Given the description of an element on the screen output the (x, y) to click on. 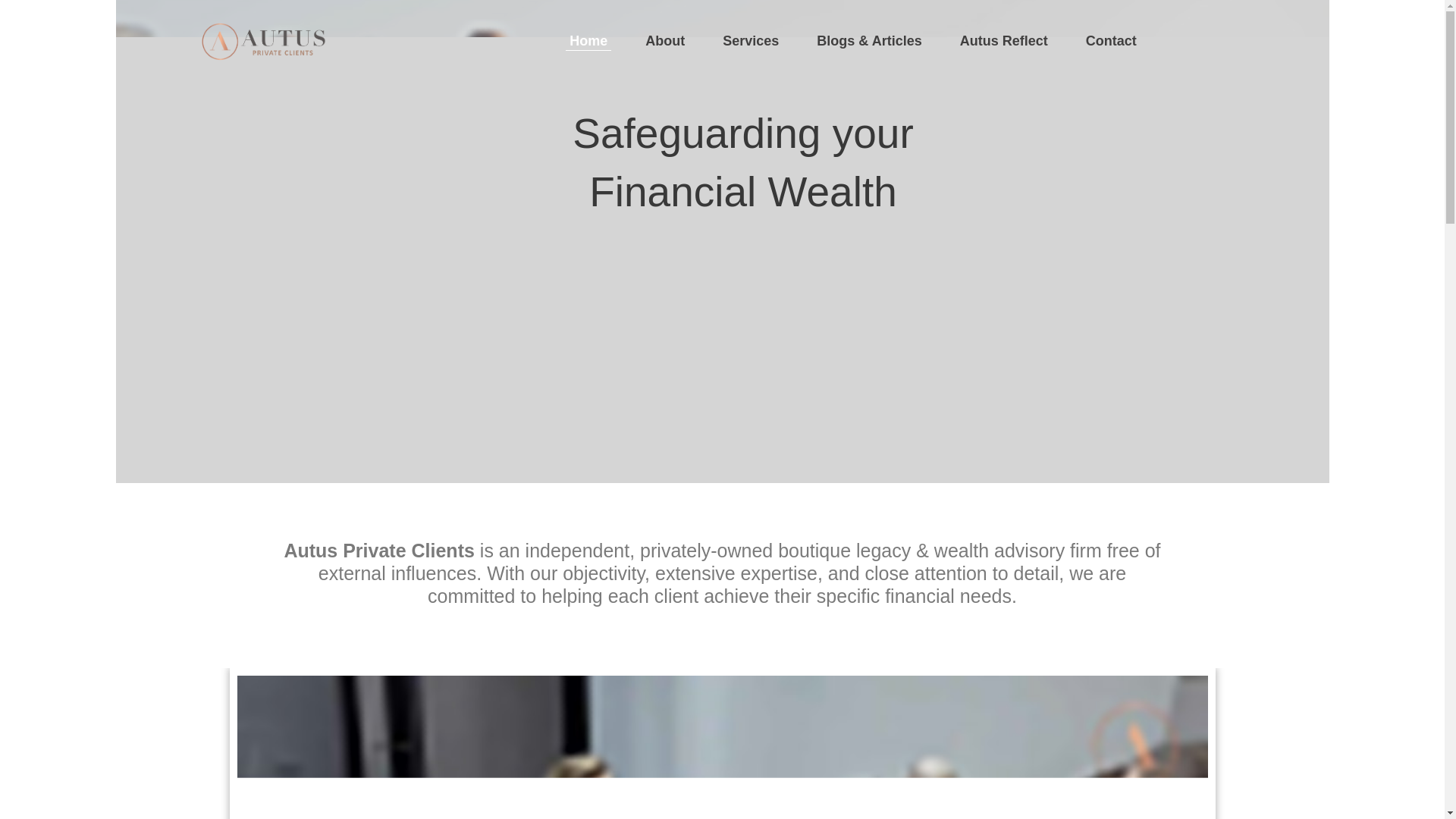
Autus Reflect (1003, 40)
About (665, 40)
Services (751, 40)
Contact (1110, 40)
Home (588, 40)
